Given the description of an element on the screen output the (x, y) to click on. 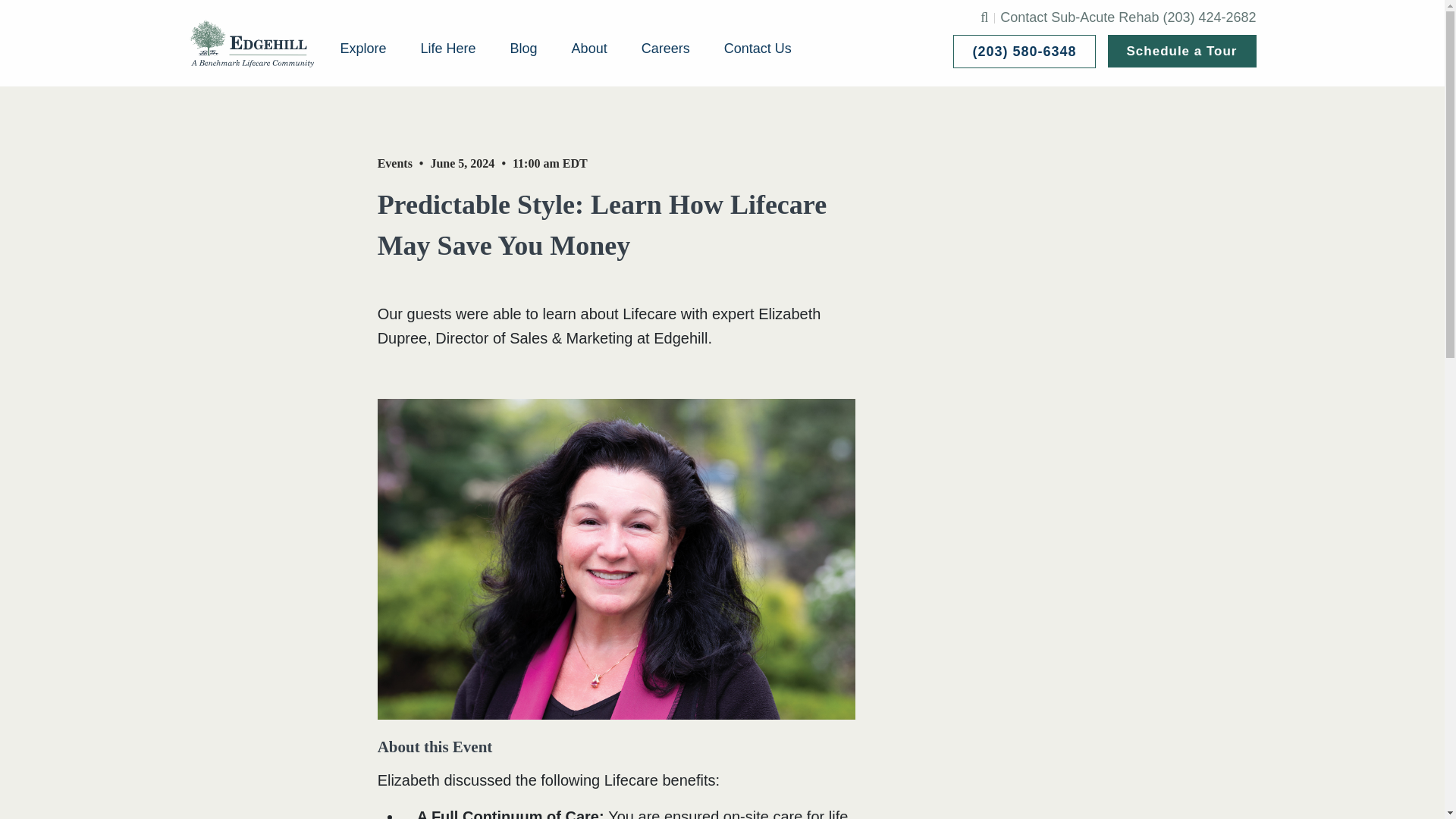
Careers (666, 49)
Contact Us (757, 49)
Schedule a Tour (1180, 51)
Meodow logo (251, 42)
